Given the description of an element on the screen output the (x, y) to click on. 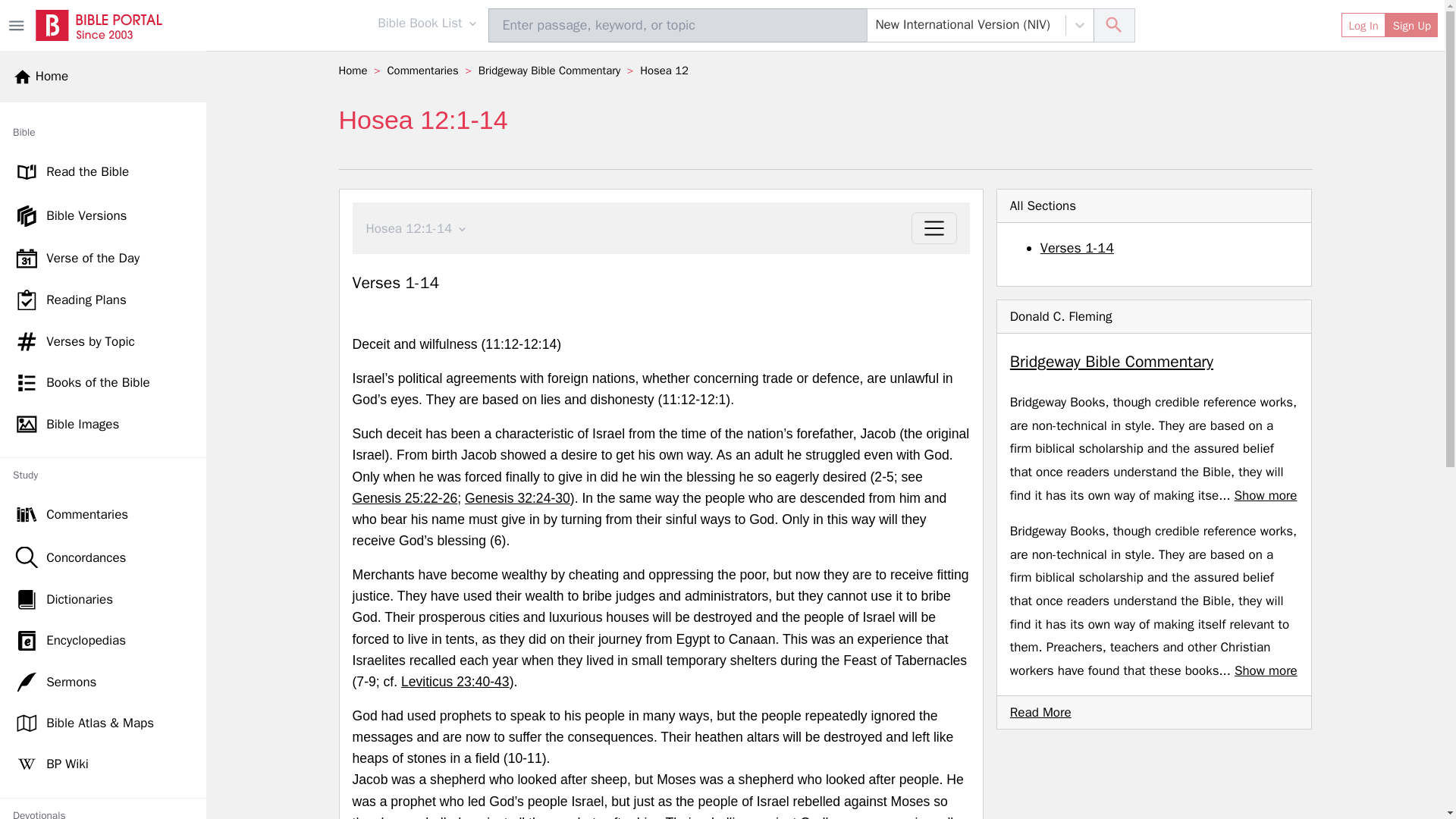
Commentaries (103, 514)
Concordances (103, 557)
Sermons (103, 681)
Dictionaries (103, 599)
Bible Book List (433, 25)
Books of the Bible (103, 382)
Log In (1363, 24)
Bible Images (103, 423)
Verses by Topic (103, 341)
Bible Passages - Genesis 25:22-26 - click to view detail (404, 498)
